Given the description of an element on the screen output the (x, y) to click on. 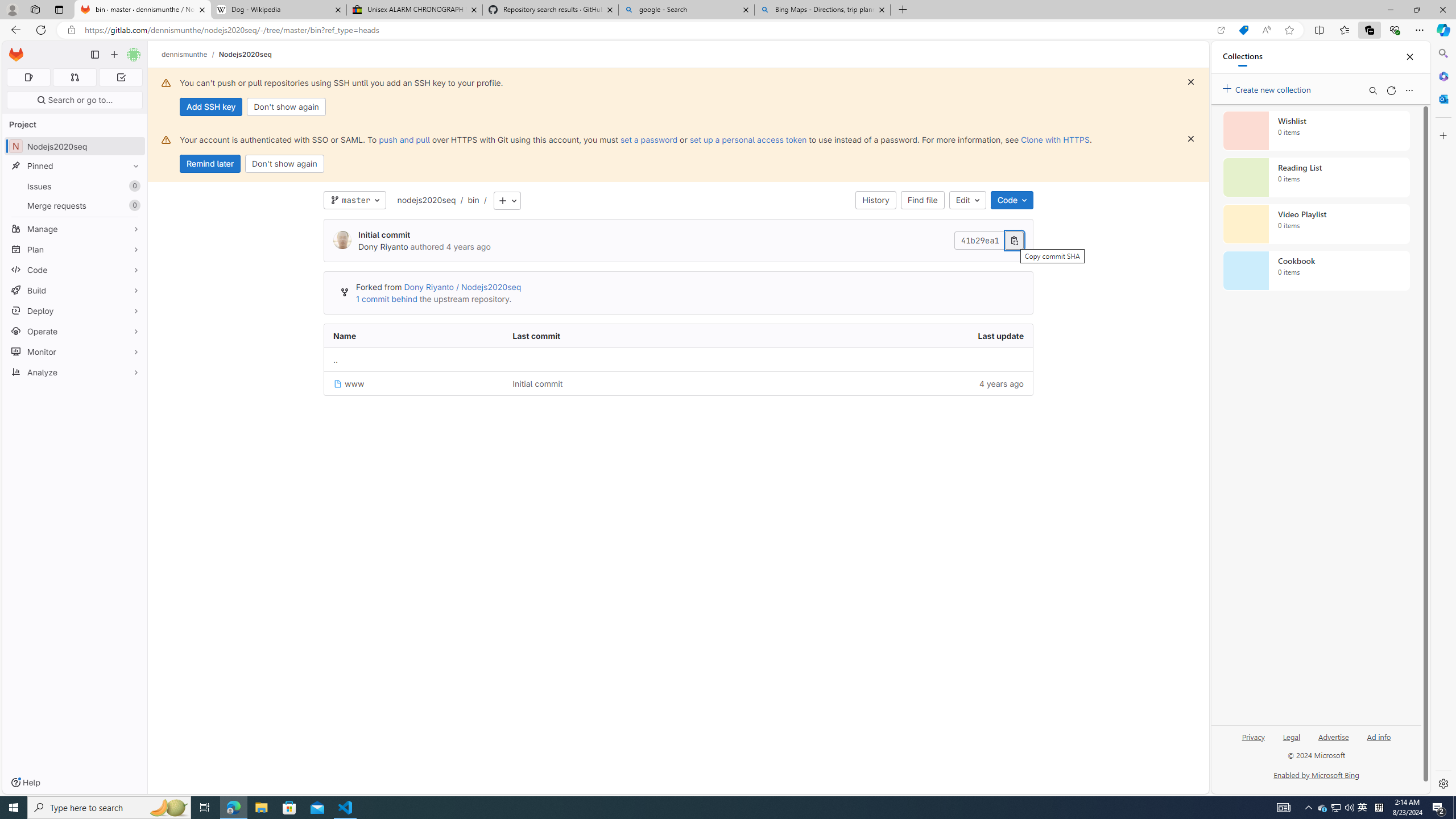
Class: tree-item (678, 383)
Primary navigation sidebar (94, 54)
Find file (921, 199)
nodejs2020seq (426, 200)
Dismiss (1190, 138)
Homepage (16, 54)
set a password (649, 139)
Nodejs2020seq (245, 53)
Issues0 (74, 185)
Deploy (74, 310)
